Given the description of an element on the screen output the (x, y) to click on. 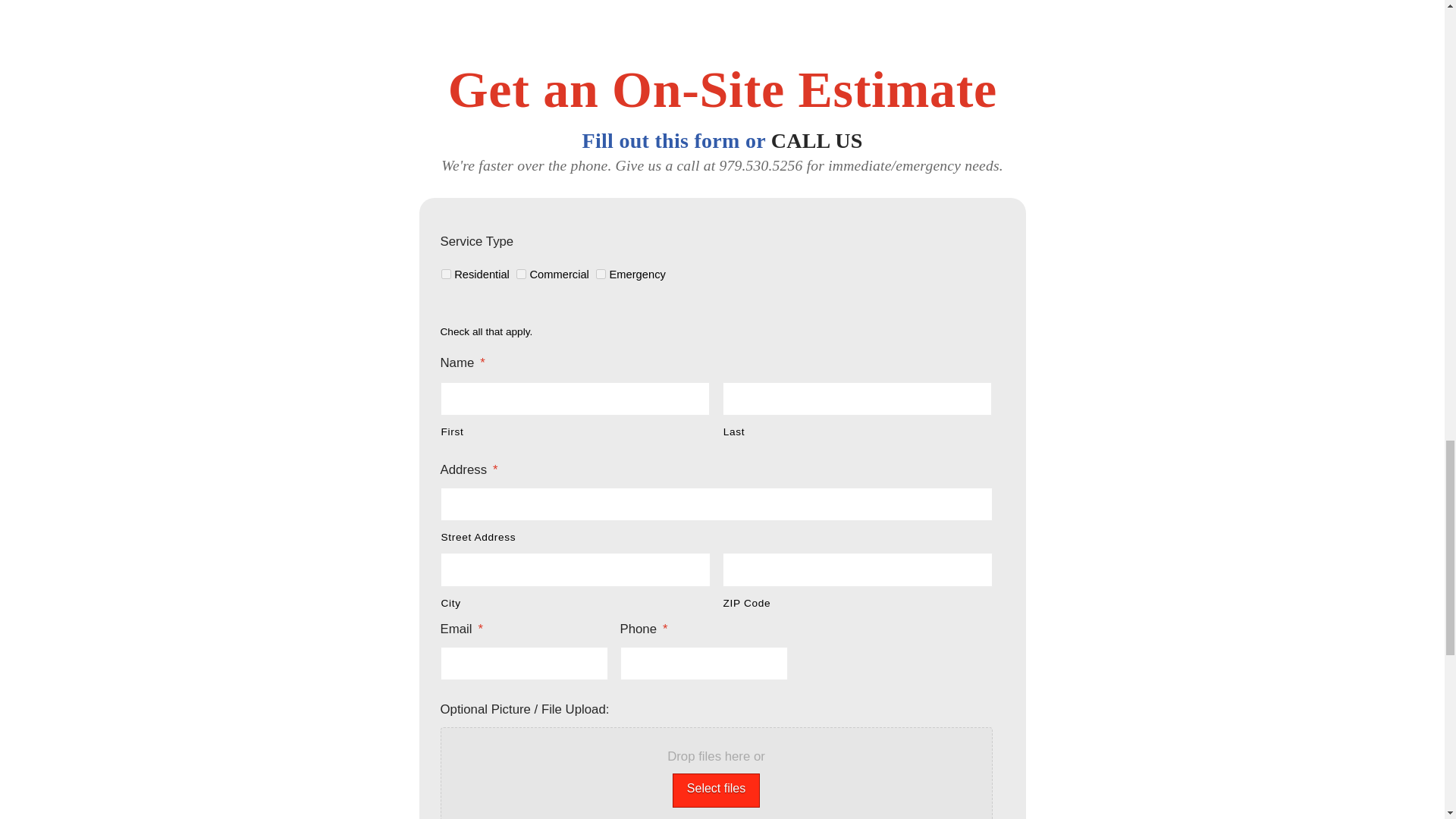
Emergency (600, 274)
CALL US (817, 140)
Residential (446, 274)
Select files (716, 790)
Commercial (520, 274)
